Given the description of an element on the screen output the (x, y) to click on. 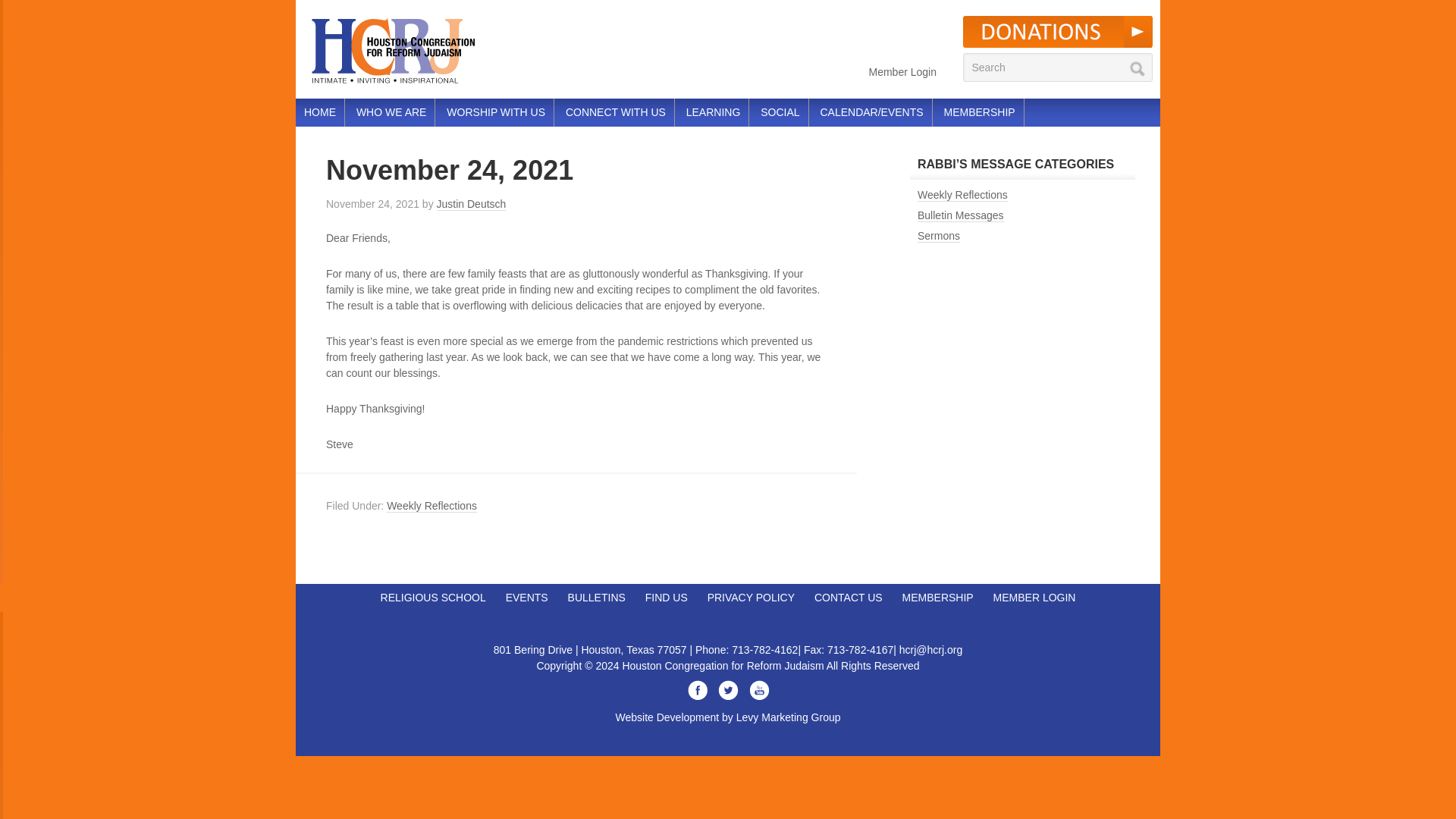
HOME (319, 112)
WHO WE ARE (391, 112)
CONNECT WITH US (615, 112)
HOUSTON CONGREGATION FOR REFORM JUDAISM (416, 49)
WORSHIP WITH US (495, 112)
LEARNING (713, 112)
SOCIAL (780, 112)
Member Login (903, 71)
houston web development (728, 717)
